Given the description of an element on the screen output the (x, y) to click on. 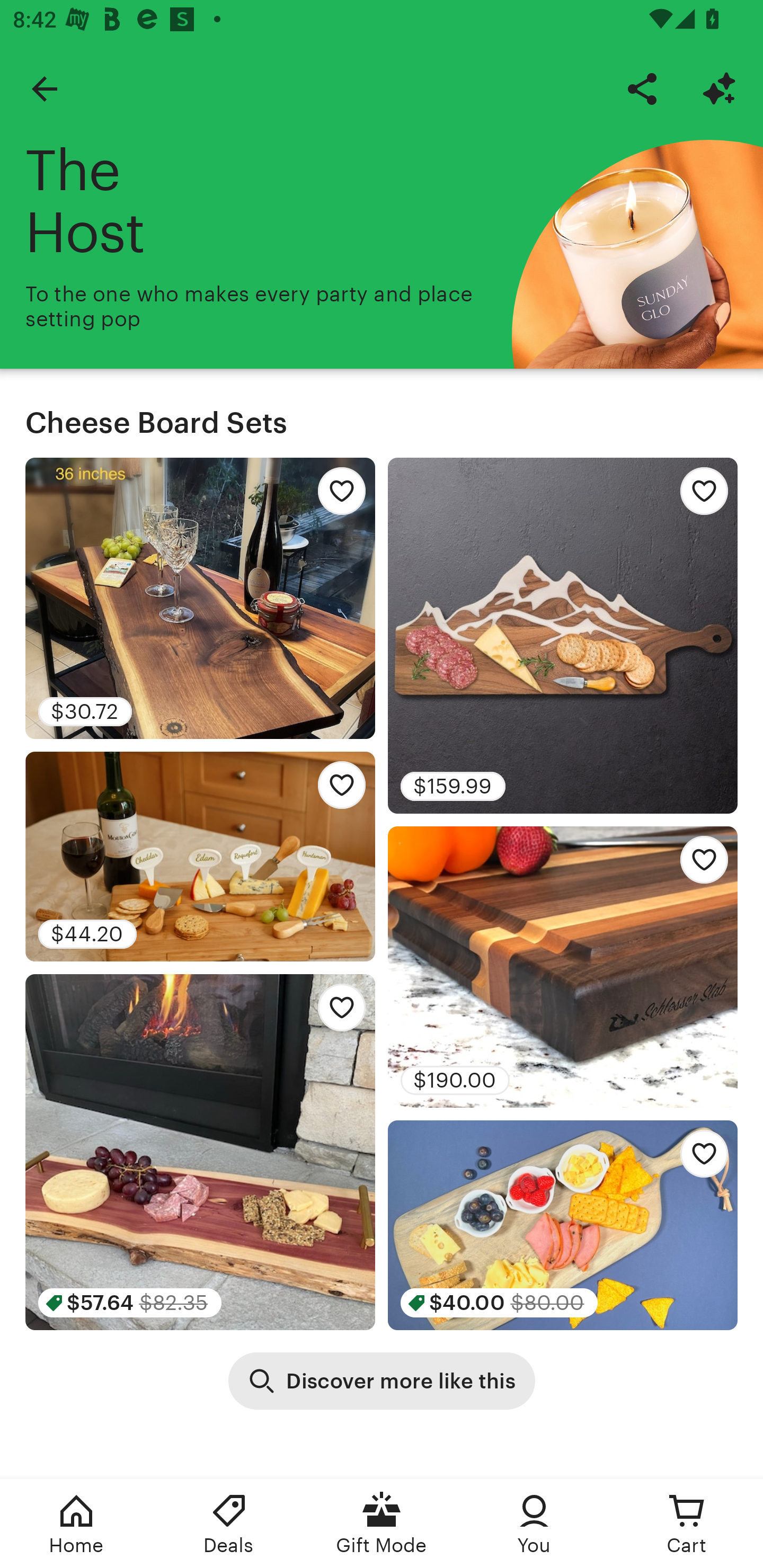
Back (44, 88)
$30.72 (200, 597)
$159.99 (562, 635)
$44.20 (200, 856)
$190.00 (562, 966)
Sale price: $57.64 $57.64 $82.35 (200, 1151)
Sale price: $40.00 $40.00 $80.00 (562, 1225)
Discover more like this (381, 1380)
Home (76, 1523)
Deals (228, 1523)
You (533, 1523)
Cart (686, 1523)
